Given the description of an element on the screen output the (x, y) to click on. 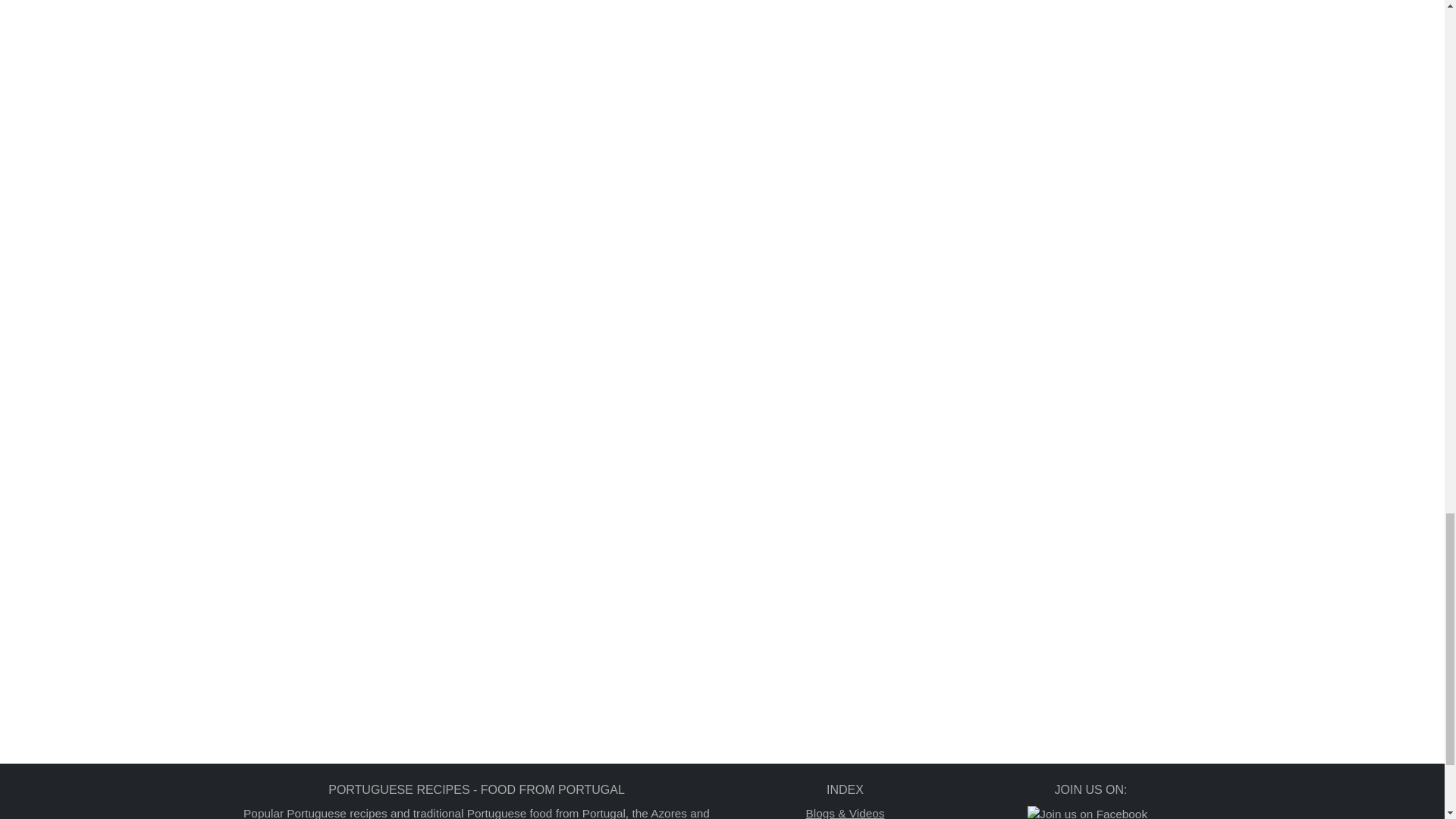
Join us on Facebook (1087, 812)
Add Comment (790, 154)
